Given the description of an element on the screen output the (x, y) to click on. 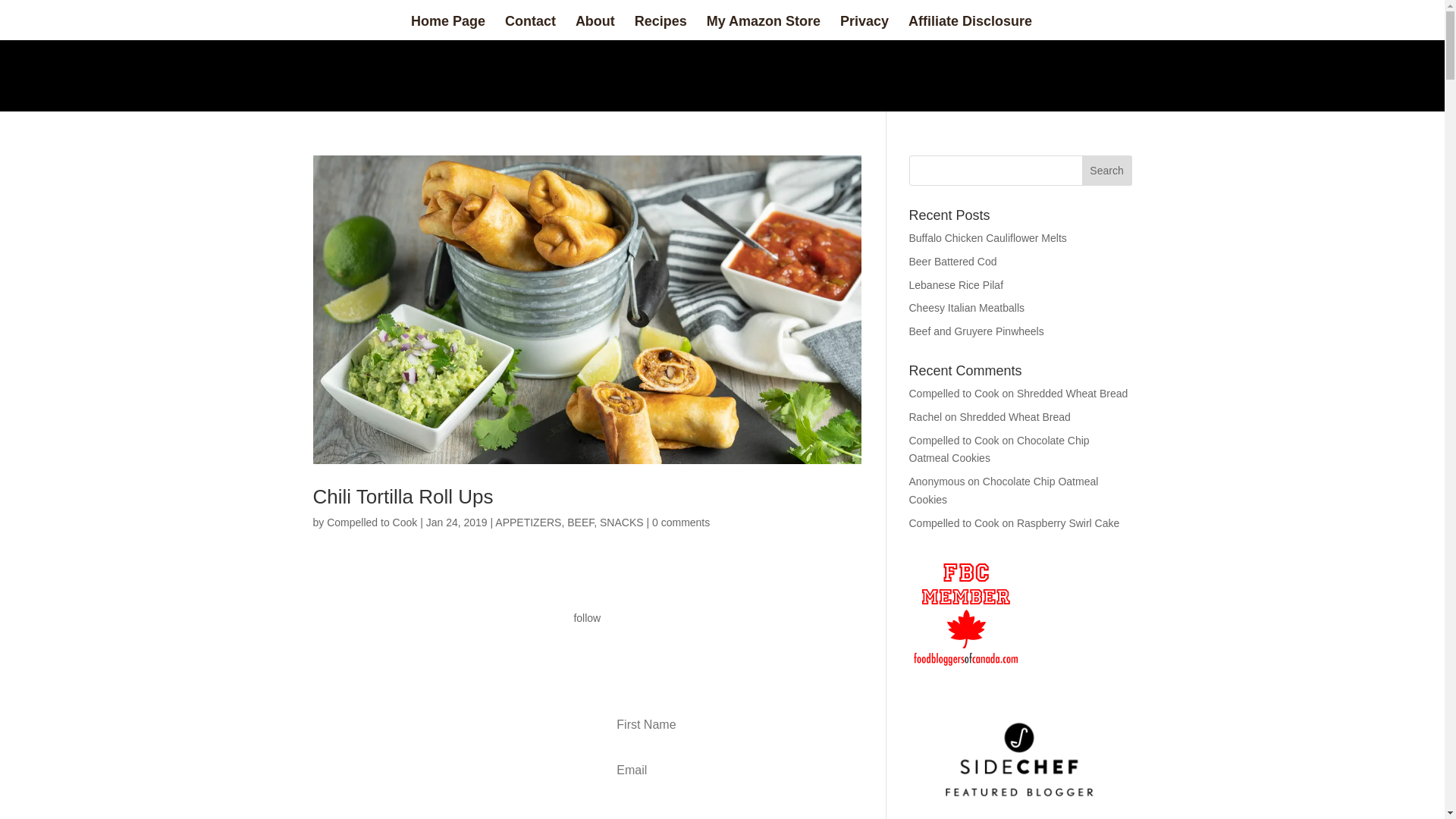
Follow on Youtube (652, 646)
BEEF (580, 522)
Chili Tortilla Roll Ups (403, 496)
Privacy (864, 27)
About (594, 27)
Compelled to Cook (371, 522)
SNACKS (621, 522)
Follow on Instagram (622, 646)
0 comments (681, 522)
Follow on Facebook (531, 646)
Home Page (447, 27)
Affiliate Disclosure (970, 27)
Recipes (660, 27)
Follow on Twitter (561, 646)
Subscribe (698, 808)
